Given the description of an element on the screen output the (x, y) to click on. 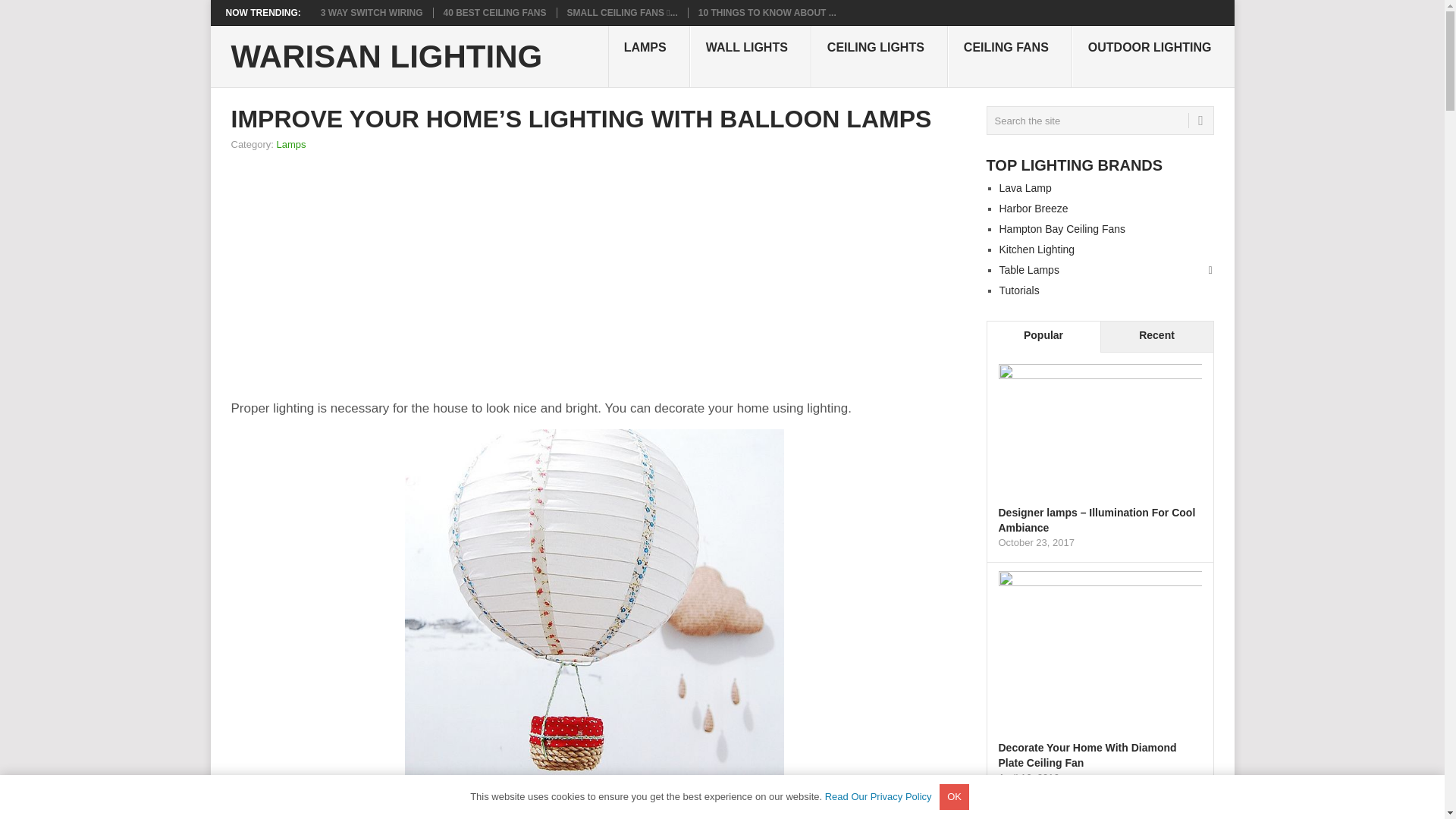
40 BEST CEILING FANS (495, 12)
Harbor Breeze (1033, 208)
Hampton Bay Ceiling Fans (1061, 228)
LAMPS (649, 56)
CEILING LIGHTS (878, 56)
10 THINGS TO KNOW ABOUT ... (766, 12)
Popular (1043, 336)
3 way switch wiring (371, 12)
Lava Lamp (1024, 187)
Table Lamps (1028, 269)
Recent (1155, 336)
WARISAN LIGHTING (385, 56)
Decorate Your Home With Diamond Plate Ceiling Fan (1086, 755)
CEILING FANS (1009, 56)
Lamps (290, 143)
